Given the description of an element on the screen output the (x, y) to click on. 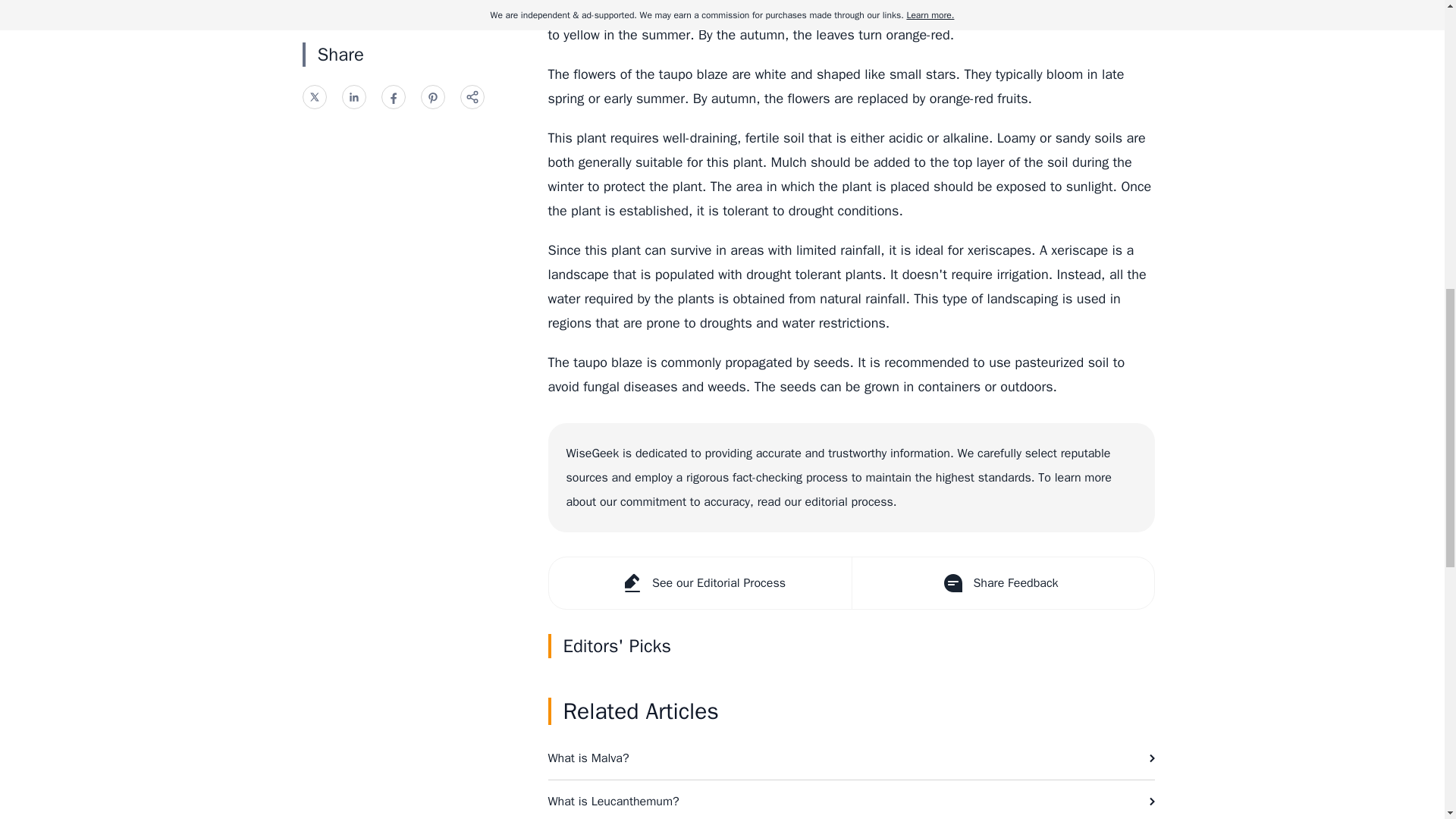
What is Leucanthemum? (850, 799)
See our Editorial Process (699, 583)
What is Malva? (850, 758)
Share Feedback (1001, 583)
